Given the description of an element on the screen output the (x, y) to click on. 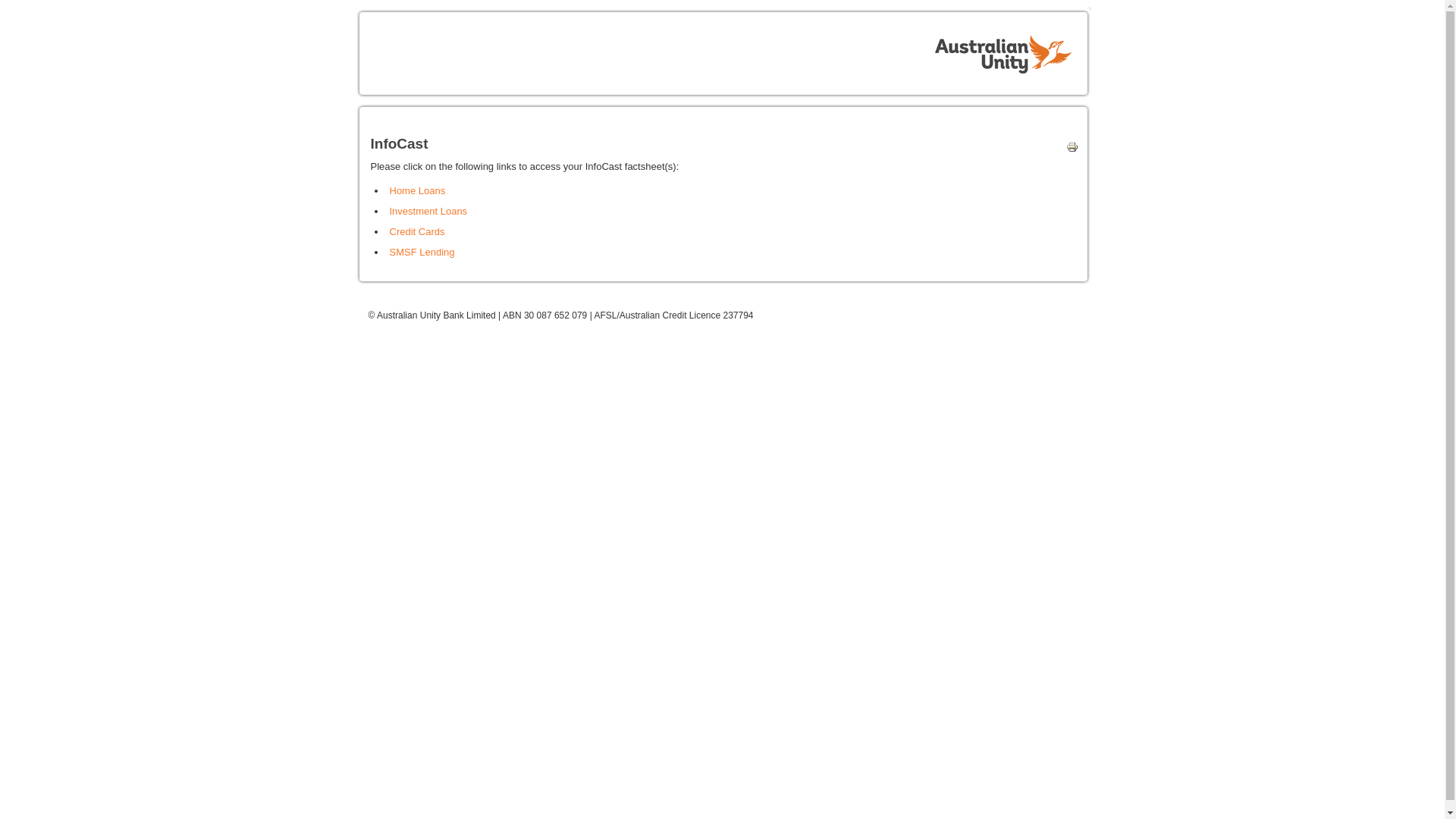
Credit Cards Element type: text (417, 231)
Investment Loans Element type: text (428, 210)
Print Element type: hover (1068, 149)
Home Loans Element type: text (417, 190)
SMSF Lending Element type: text (422, 251)
